Given the description of an element on the screen output the (x, y) to click on. 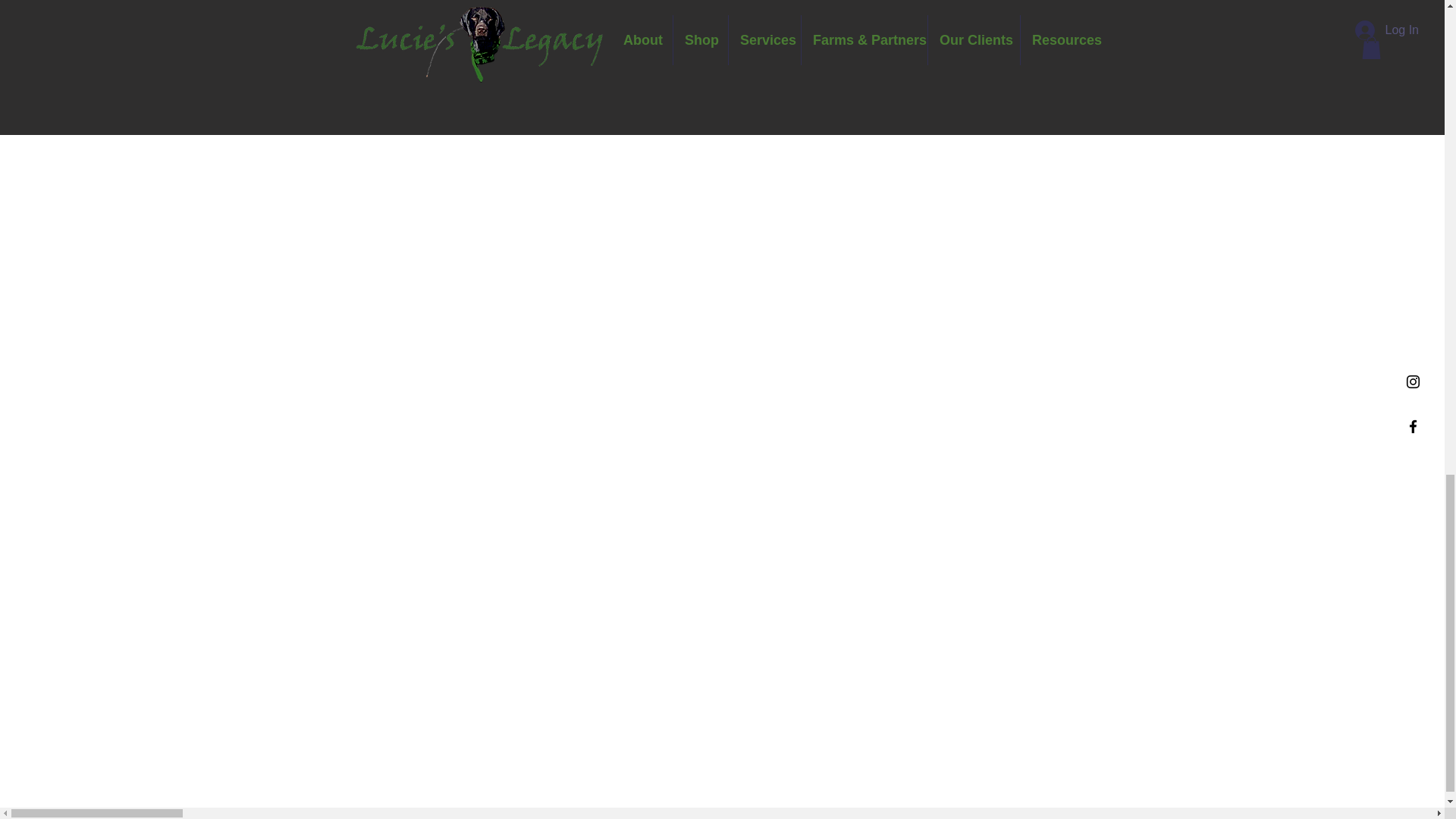
Submit (457, 46)
